Given the description of an element on the screen output the (x, y) to click on. 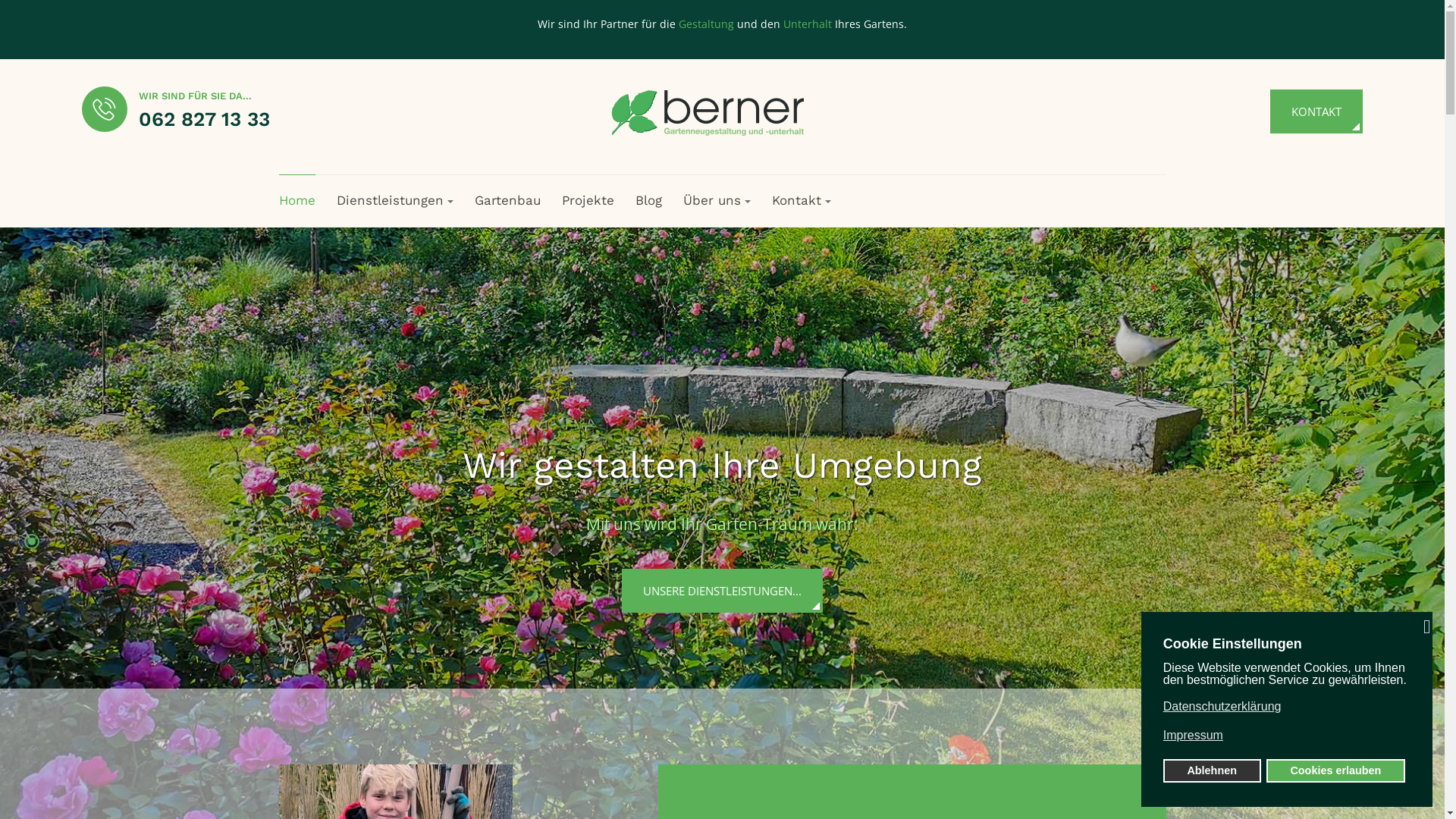
Kontakt Element type: text (801, 199)
Dienstleistungen Element type: text (394, 199)
Gestaltung Element type: text (706, 23)
Unterhalt Element type: text (807, 23)
KONTAKT Element type: text (1316, 111)
Berner Gartenneugestaltung und -unterhalt Element type: hover (716, 111)
062 827 13 33 Element type: text (203, 118)
Projekte Element type: text (587, 199)
UNSERE DIENSTLEISTUNGEN... Element type: text (721, 590)
Blog Element type: text (648, 199)
Gartenbau Element type: text (507, 199)
Impressum Element type: text (1285, 735)
Cookies erlauben Element type: text (1335, 770)
Ablehnen Element type: text (1212, 770)
Home Element type: text (297, 199)
